Given the description of an element on the screen output the (x, y) to click on. 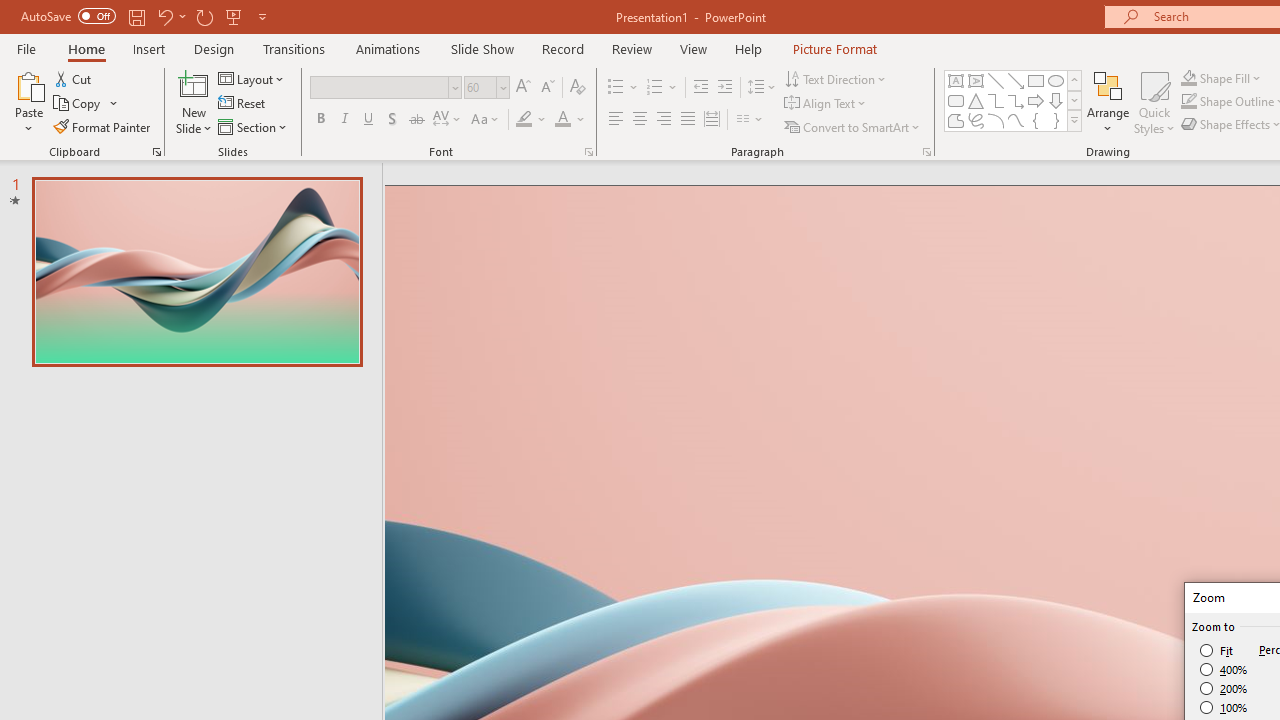
Decrease Indent (700, 87)
